Given the description of an element on the screen output the (x, y) to click on. 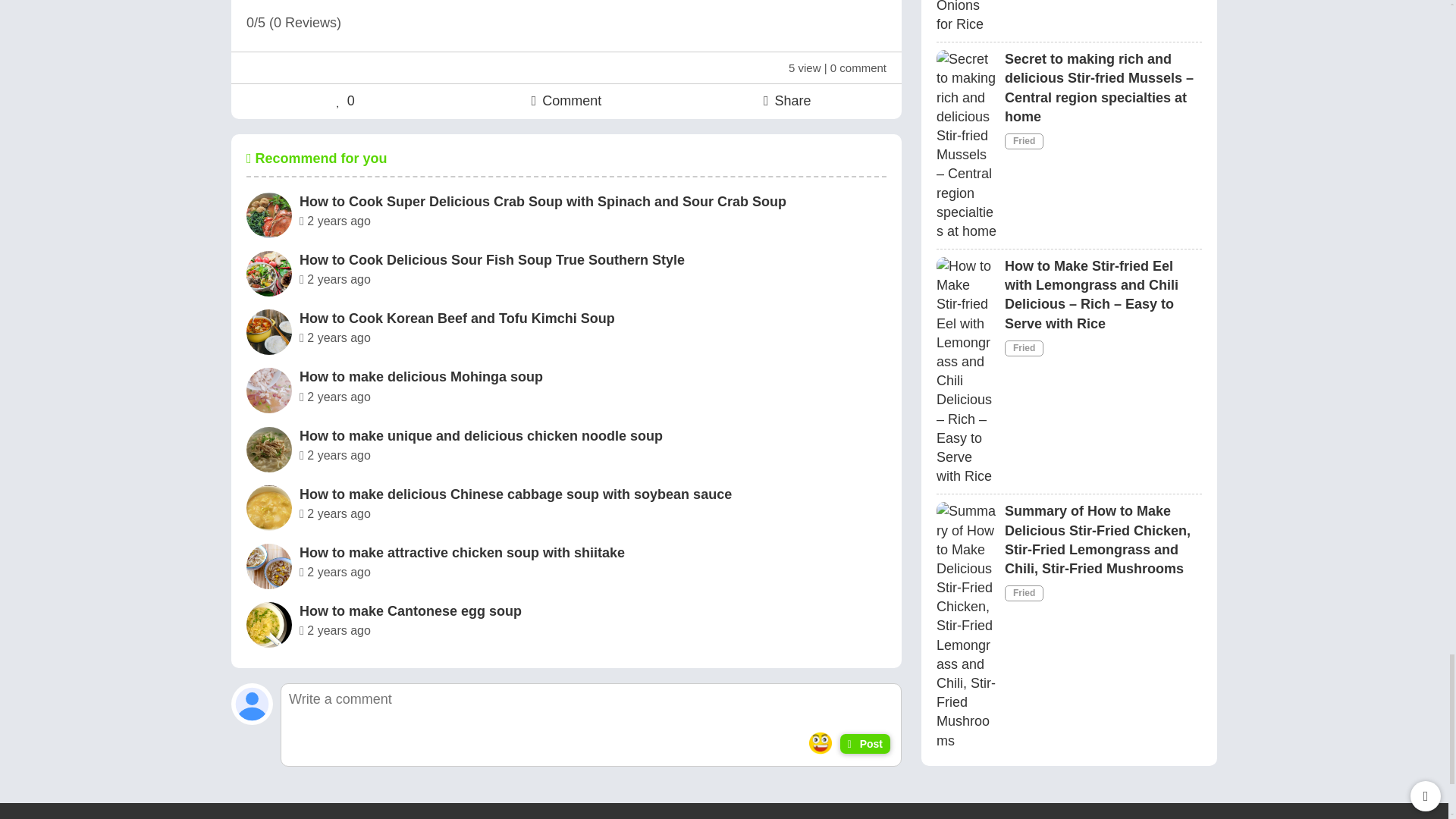
Share (786, 100)
Comment (566, 100)
Comment (566, 100)
Likes (345, 100)
0 (345, 100)
Share (786, 100)
